Given the description of an element on the screen output the (x, y) to click on. 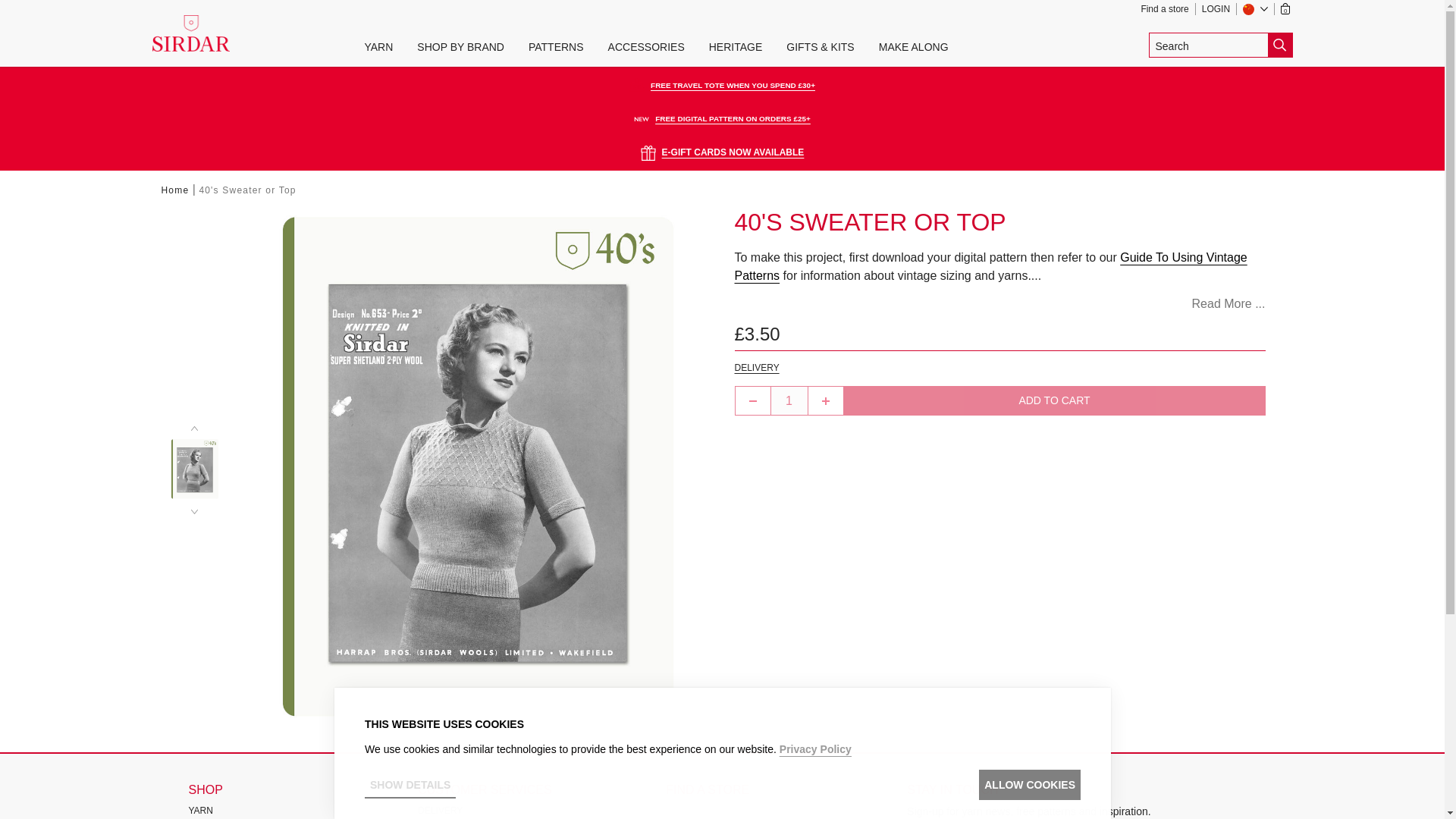
SHOW DETAILS (409, 784)
ALLOW COOKIES (1029, 784)
0 (1288, 9)
YARN (378, 47)
Privacy Policy (814, 748)
LOGIN (1219, 9)
SHOP BY BRAND (459, 47)
Find a store (1167, 9)
1 (788, 400)
